Given the description of an element on the screen output the (x, y) to click on. 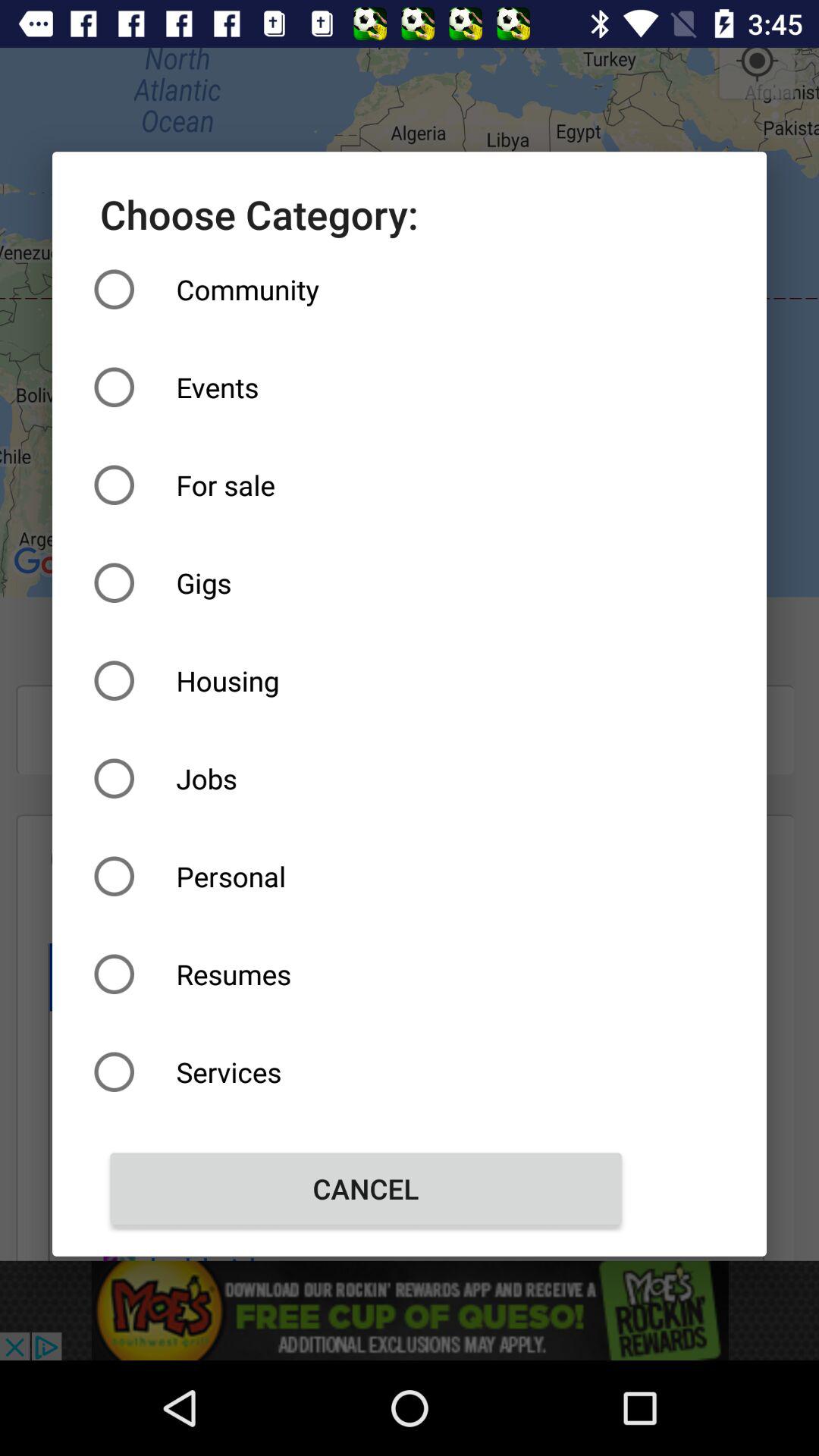
open icon above the housing (365, 582)
